Given the description of an element on the screen output the (x, y) to click on. 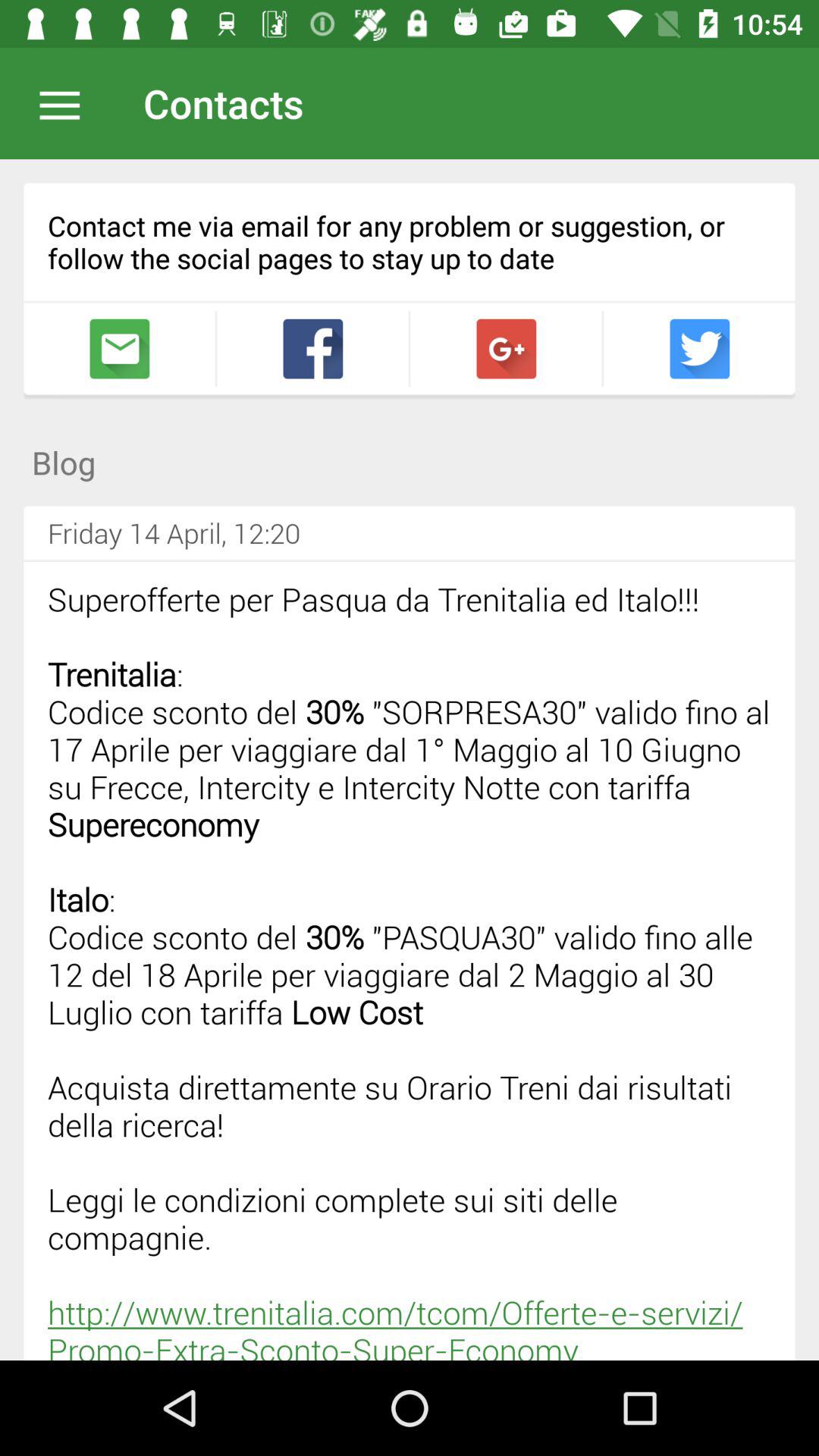
follow on facebook (699, 348)
